Given the description of an element on the screen output the (x, y) to click on. 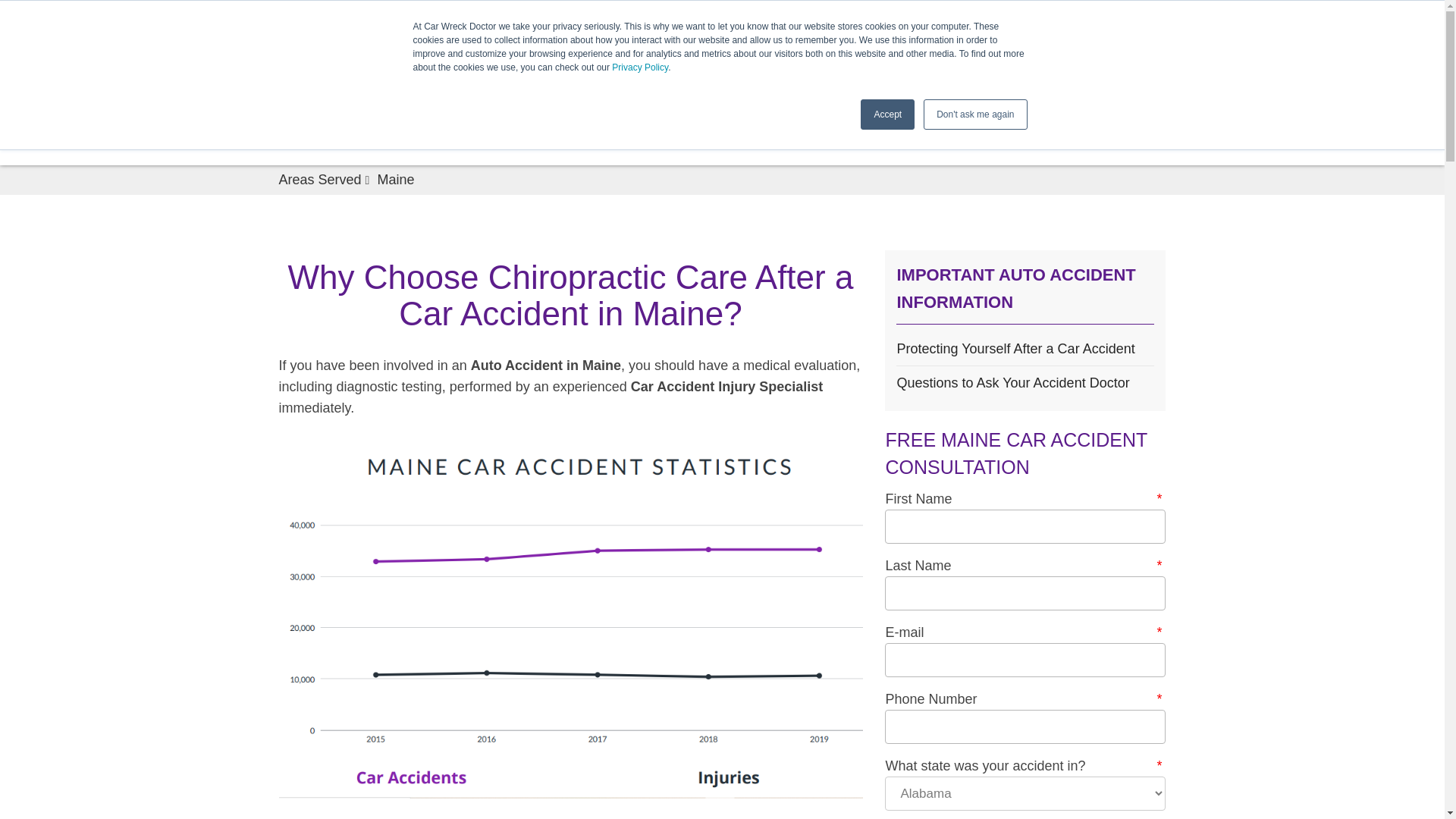
Accept (887, 114)
Home (553, 131)
Our Process (719, 127)
Car Accident Chiropractor (743, 56)
Contact Us (818, 131)
855-200-6063 (986, 91)
Areas Served (920, 131)
About Us (626, 131)
Don't ask me again (974, 114)
Privacy Policy (639, 67)
